Given the description of an element on the screen output the (x, y) to click on. 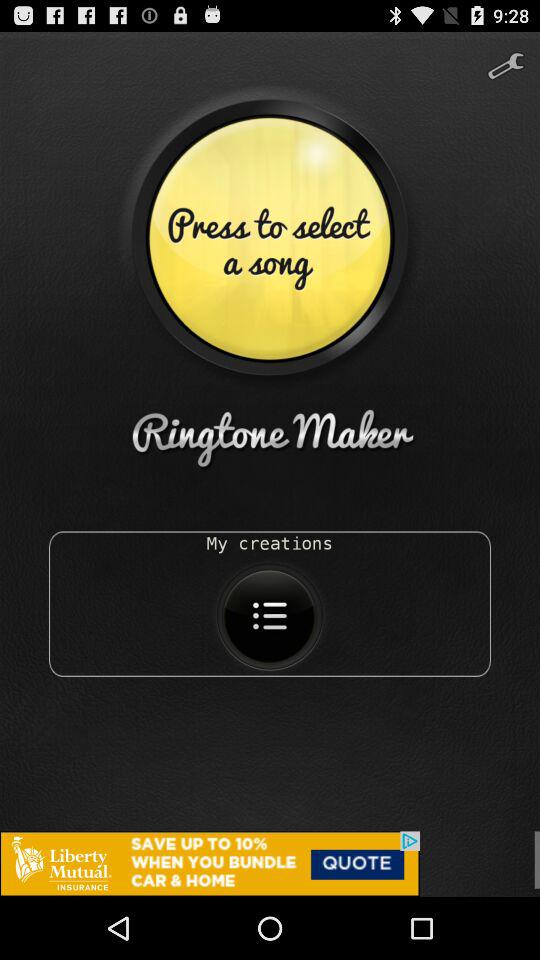
advertisement for a quote (270, 864)
